Given the description of an element on the screen output the (x, y) to click on. 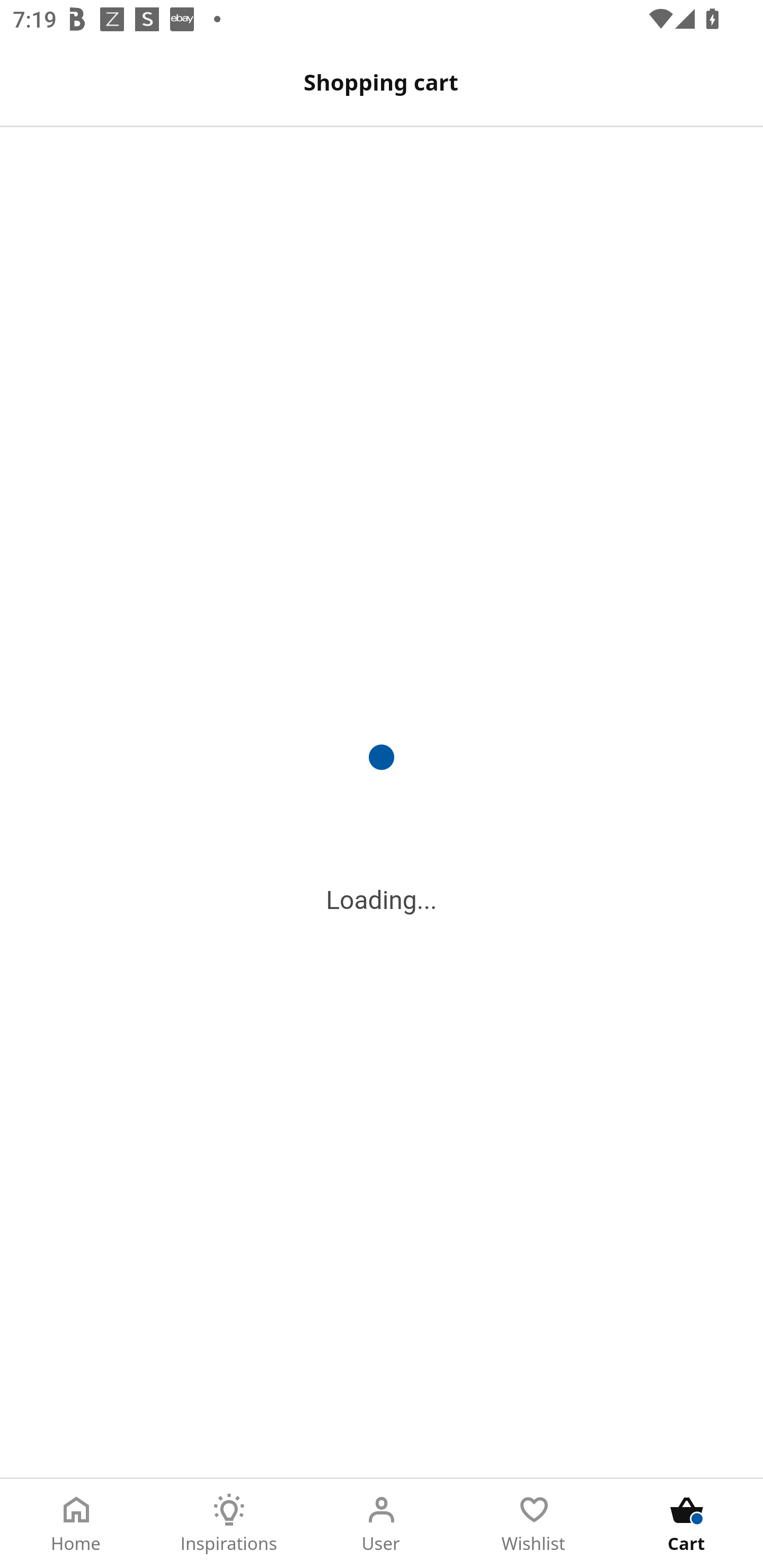
Home
Tab 1 of 5 (76, 1522)
Inspirations
Tab 2 of 5 (228, 1522)
User
Tab 3 of 5 (381, 1522)
Wishlist
Tab 4 of 5 (533, 1522)
Cart
Tab 5 of 5 (686, 1522)
